Given the description of an element on the screen output the (x, y) to click on. 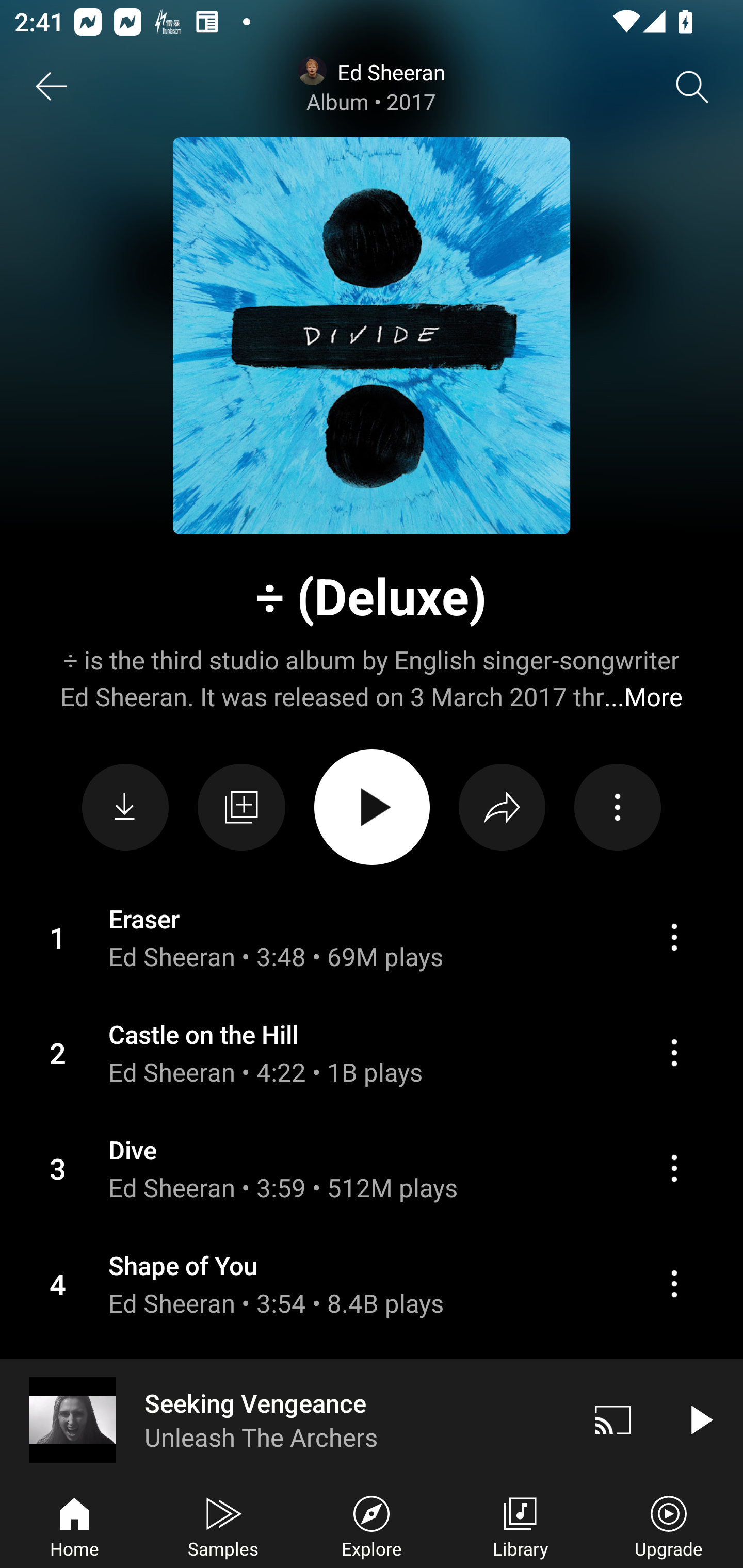
Back (50, 86)
Search (692, 86)
PLAY ALL (371, 807)
Download (125, 807)
Share (501, 807)
Action menu (617, 807)
Save to library (241, 806)
Action menu (371, 937)
Action menu (673, 936)
Action menu (371, 1052)
Action menu (673, 1052)
Action menu (371, 1168)
Action menu (673, 1168)
Action menu (371, 1284)
Action menu (673, 1283)
Seeking Vengeance Unleash The Archers (284, 1419)
Cast. Disconnected (612, 1419)
Play video (699, 1419)
Home (74, 1524)
Samples (222, 1524)
Explore (371, 1524)
Library (519, 1524)
Upgrade (668, 1524)
